Given the description of an element on the screen output the (x, y) to click on. 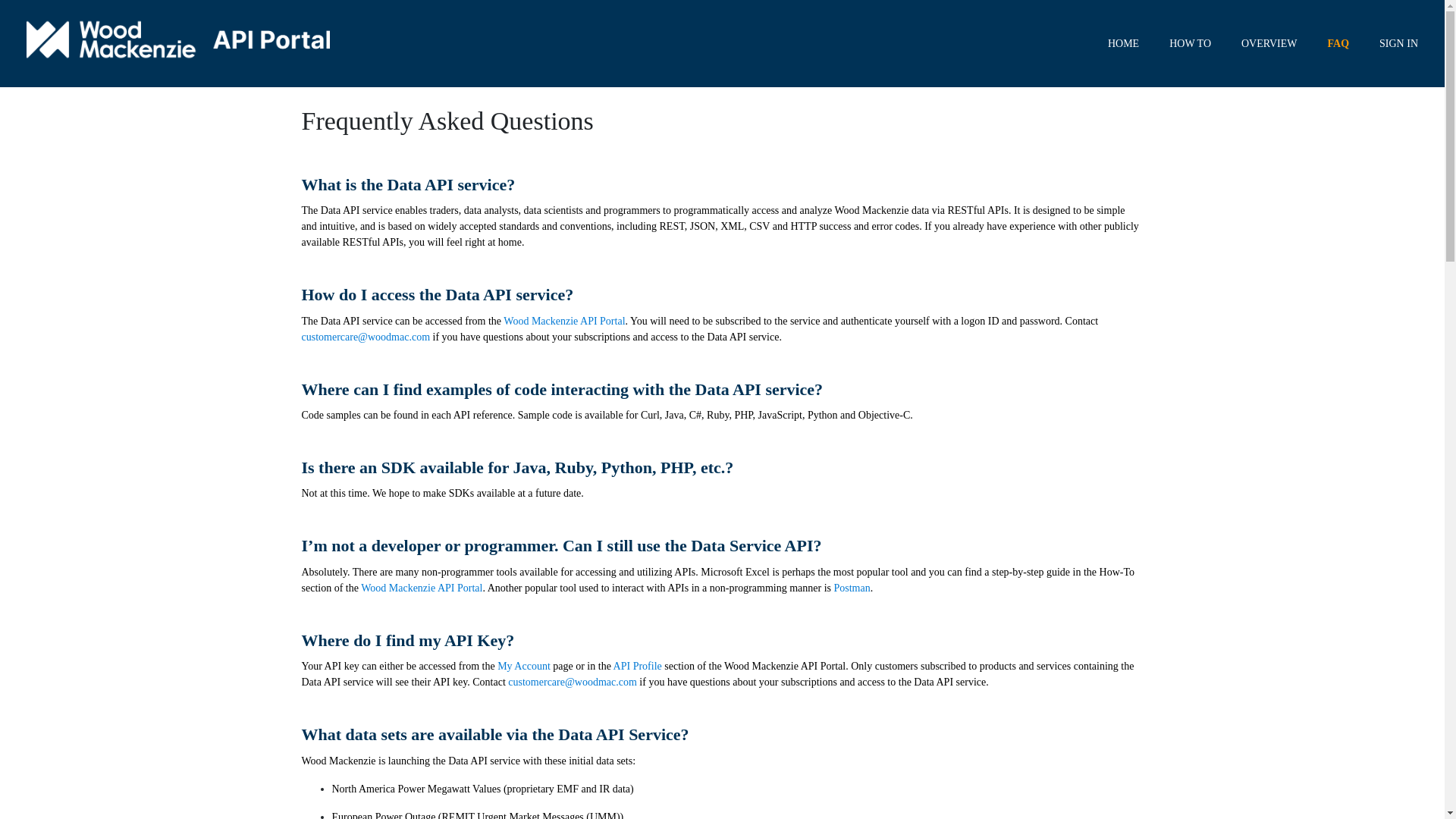
SIGN IN (1398, 42)
Wood Mackenzie API Portal (421, 587)
Wood Mackenzie API Portal (563, 320)
Postman (852, 587)
HOME (1123, 42)
API Profile (637, 665)
HOW TO (1189, 42)
My Account (523, 665)
FAQ (1339, 42)
OVERVIEW (1269, 42)
